Given the description of an element on the screen output the (x, y) to click on. 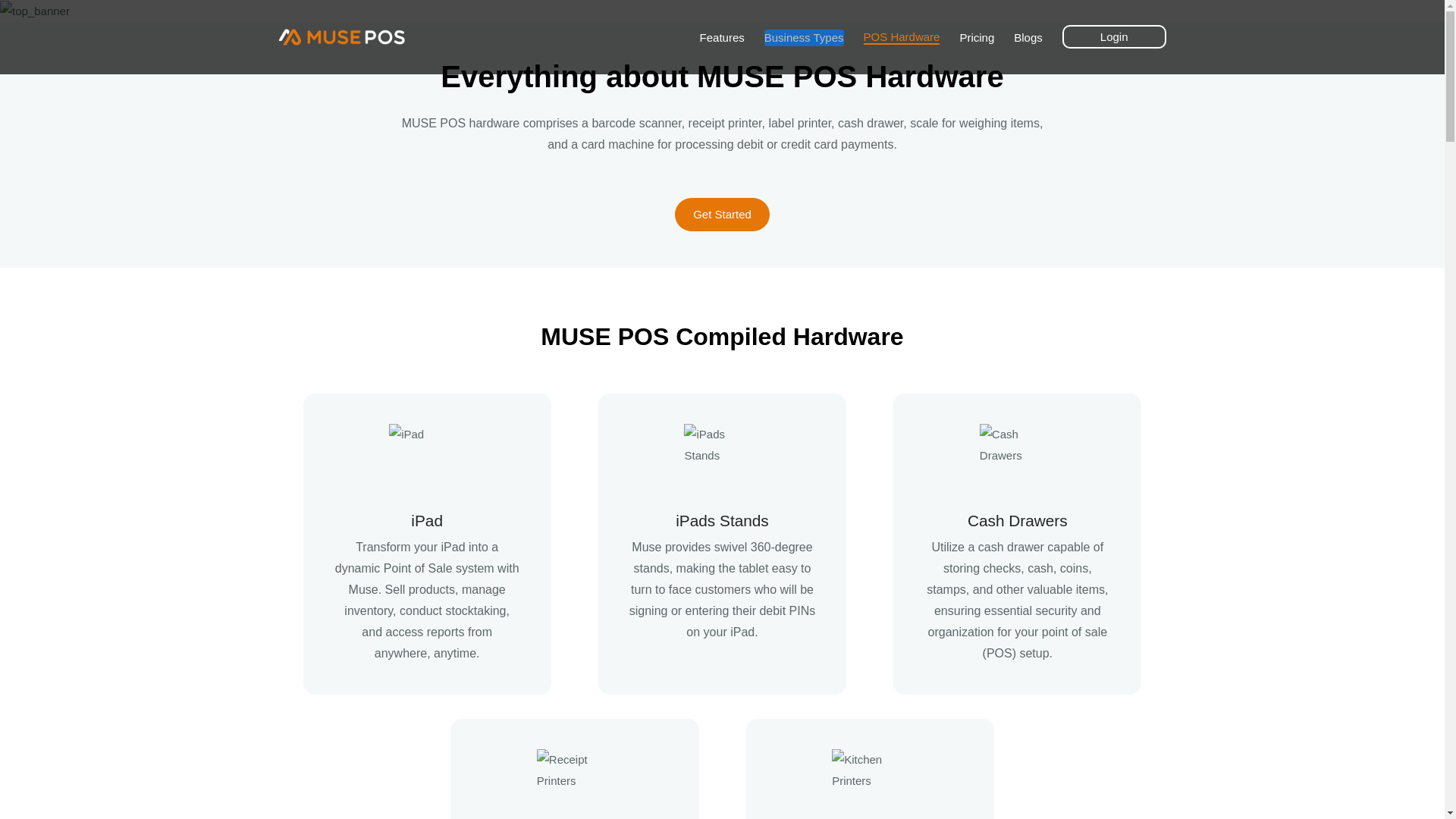
Get Started (722, 214)
Business Types (804, 37)
Pricing (976, 36)
Blogs (807, 37)
Features (1027, 36)
POS Hardware (722, 36)
Get Started (901, 37)
Login (722, 214)
